Given the description of an element on the screen output the (x, y) to click on. 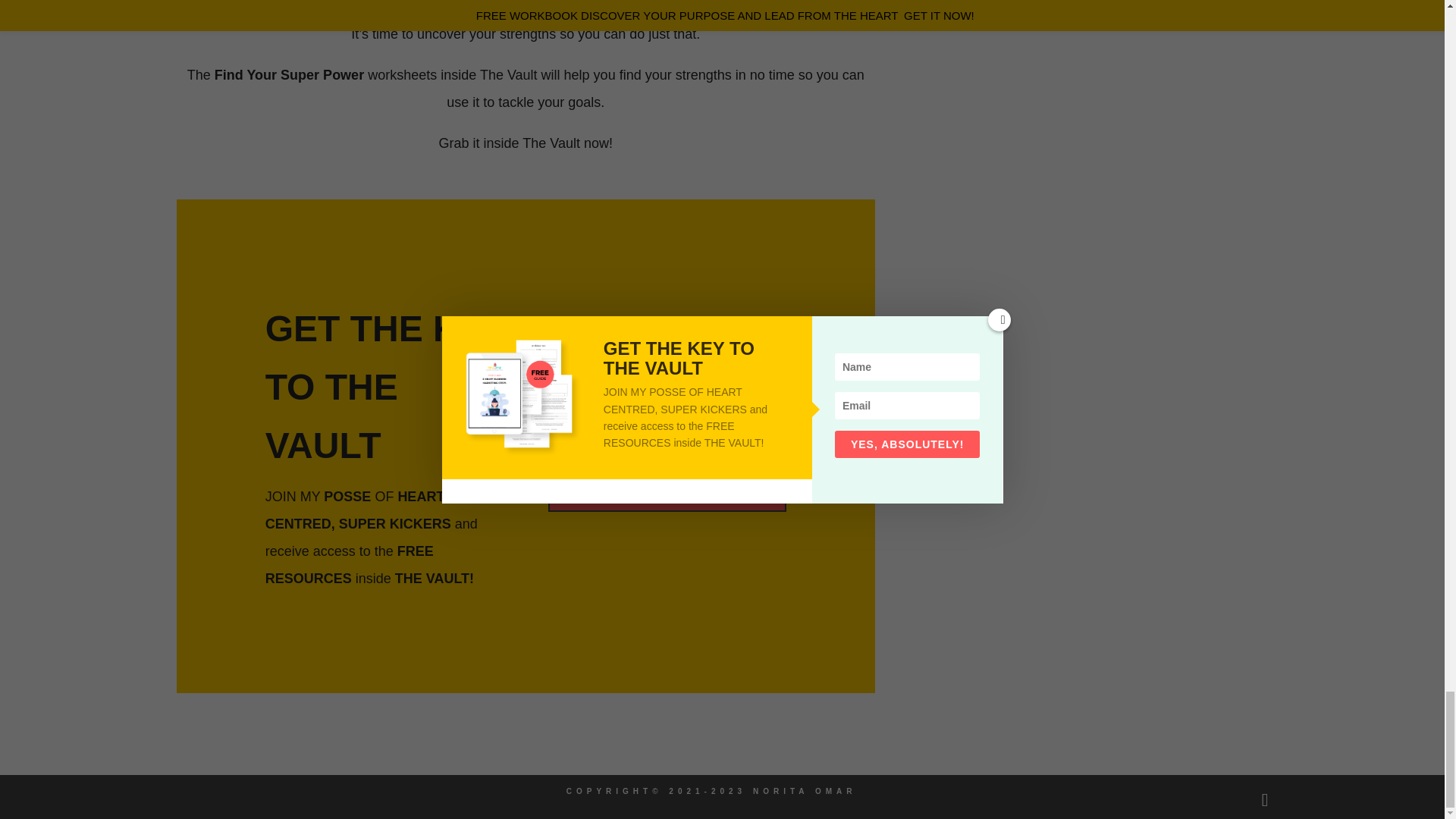
YES ABSOLUTELY! (667, 494)
